Given the description of an element on the screen output the (x, y) to click on. 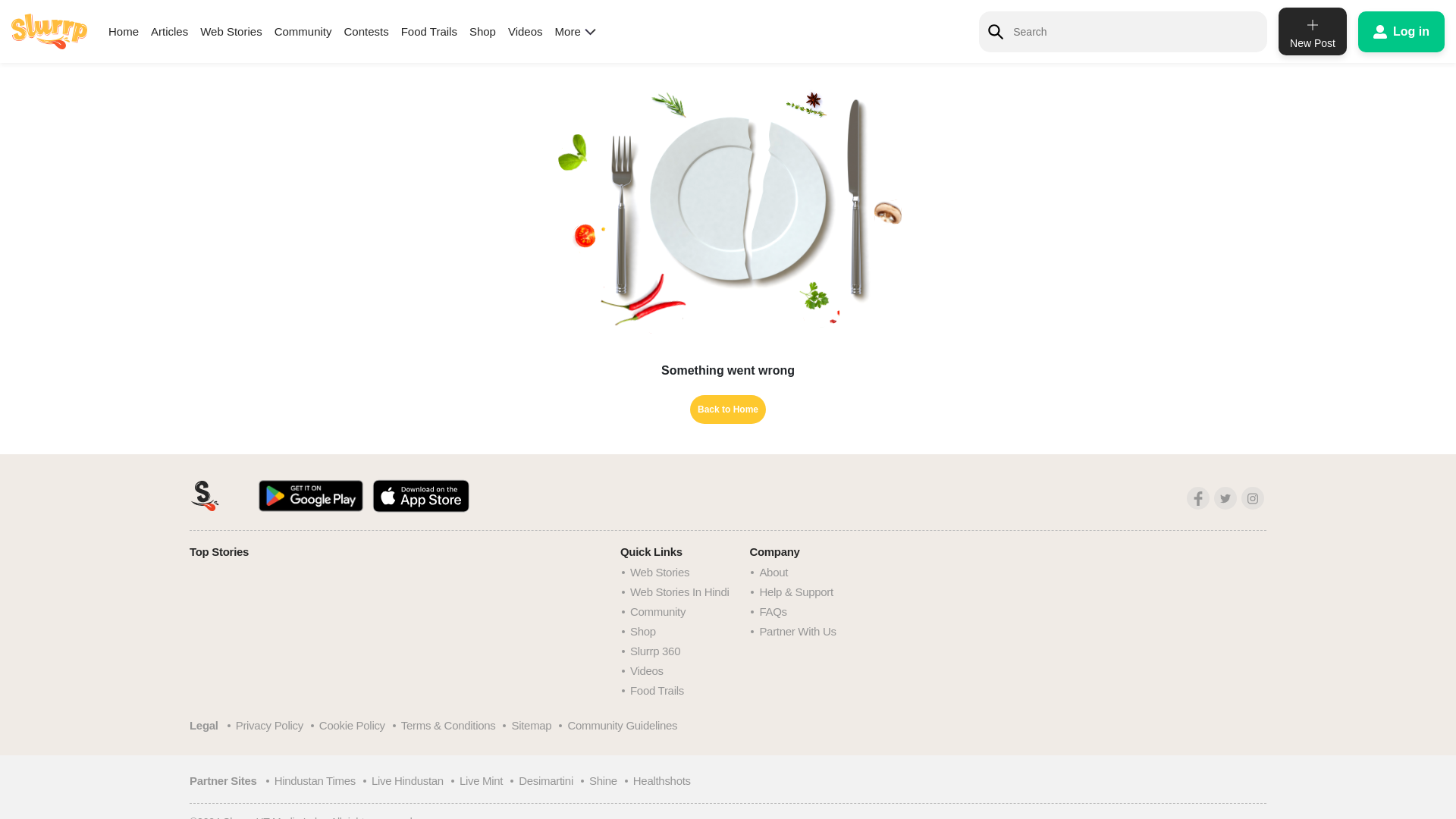
Contests (365, 31)
user login (1401, 30)
New Post (1312, 31)
Log in (1401, 30)
Web Stories (231, 31)
Food Trails (429, 31)
Videos (525, 31)
Back to Home (727, 409)
Shop (482, 31)
Articles (169, 31)
Community (303, 31)
Home (122, 31)
